Given the description of an element on the screen output the (x, y) to click on. 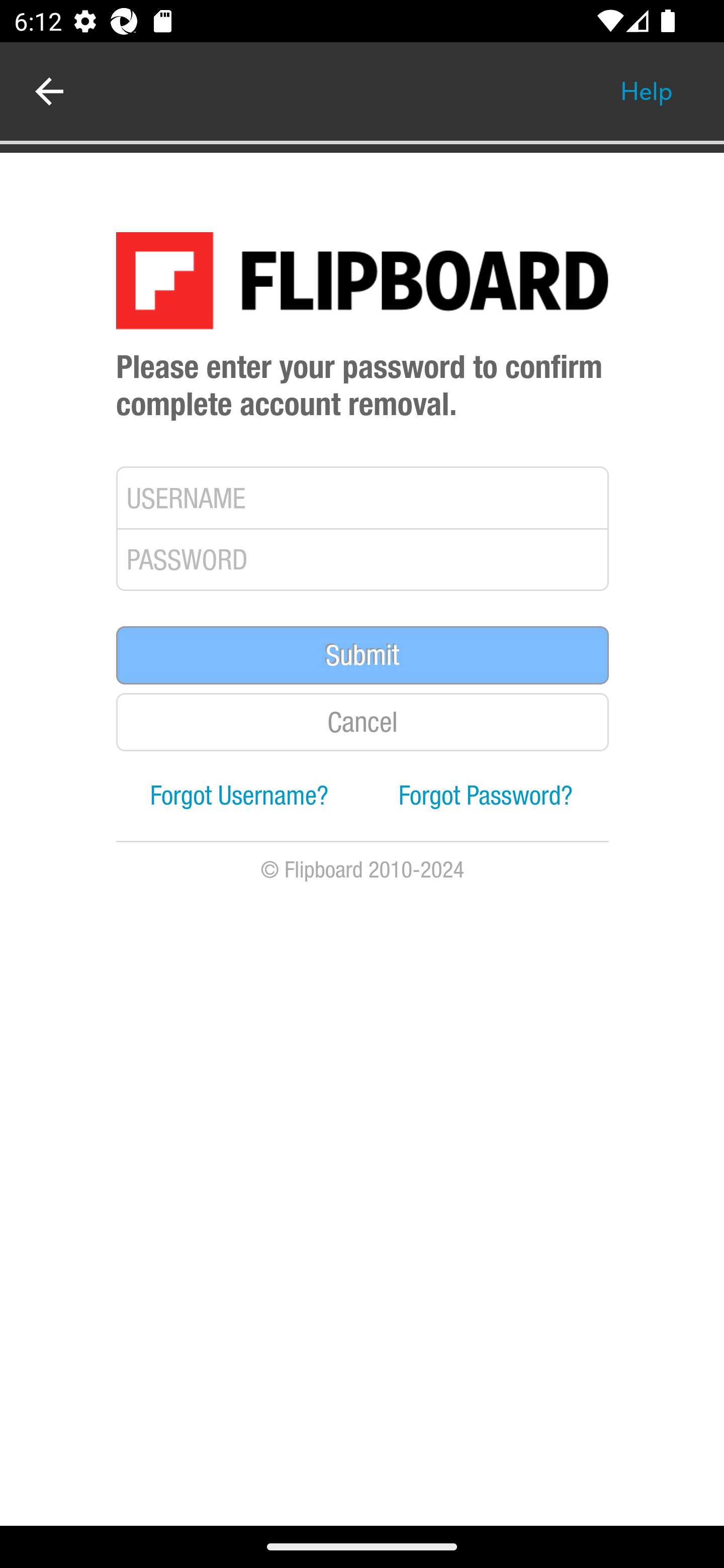
Back (49, 91)
Help (646, 91)
Submit (362, 655)
Cancel (362, 722)
Forgot Username? (239, 796)
Forgot Password? (486, 796)
